Given the description of an element on the screen output the (x, y) to click on. 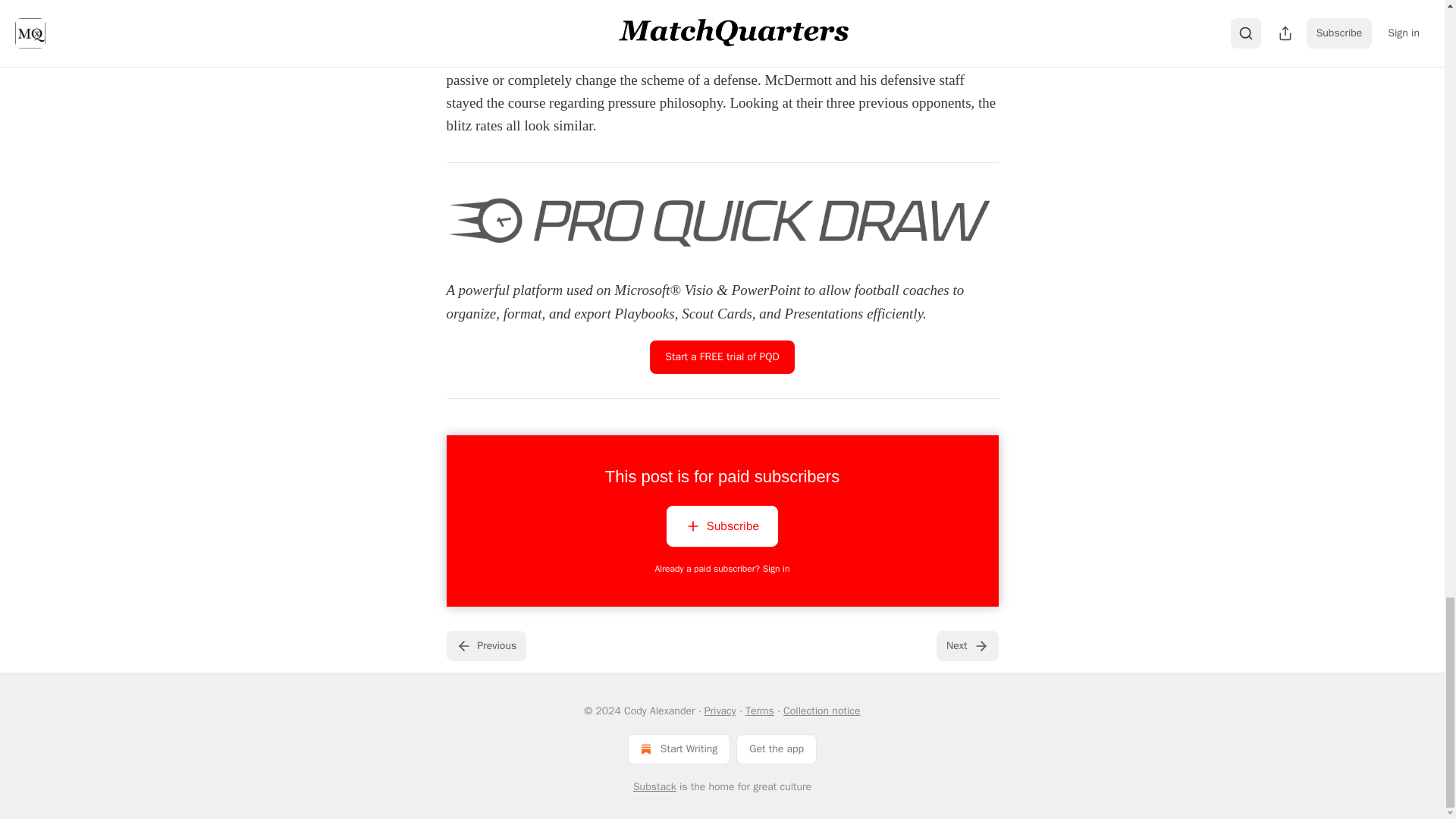
Collection notice (821, 710)
Already a paid subscriber? Sign in (722, 568)
Subscribe (721, 526)
Next (966, 645)
Privacy (720, 710)
Start a FREE trial of PQD (721, 356)
Subscribe (721, 529)
Start Writing (678, 748)
Get the app (776, 748)
Previous (485, 645)
Substack (655, 786)
Terms (759, 710)
